Given the description of an element on the screen output the (x, y) to click on. 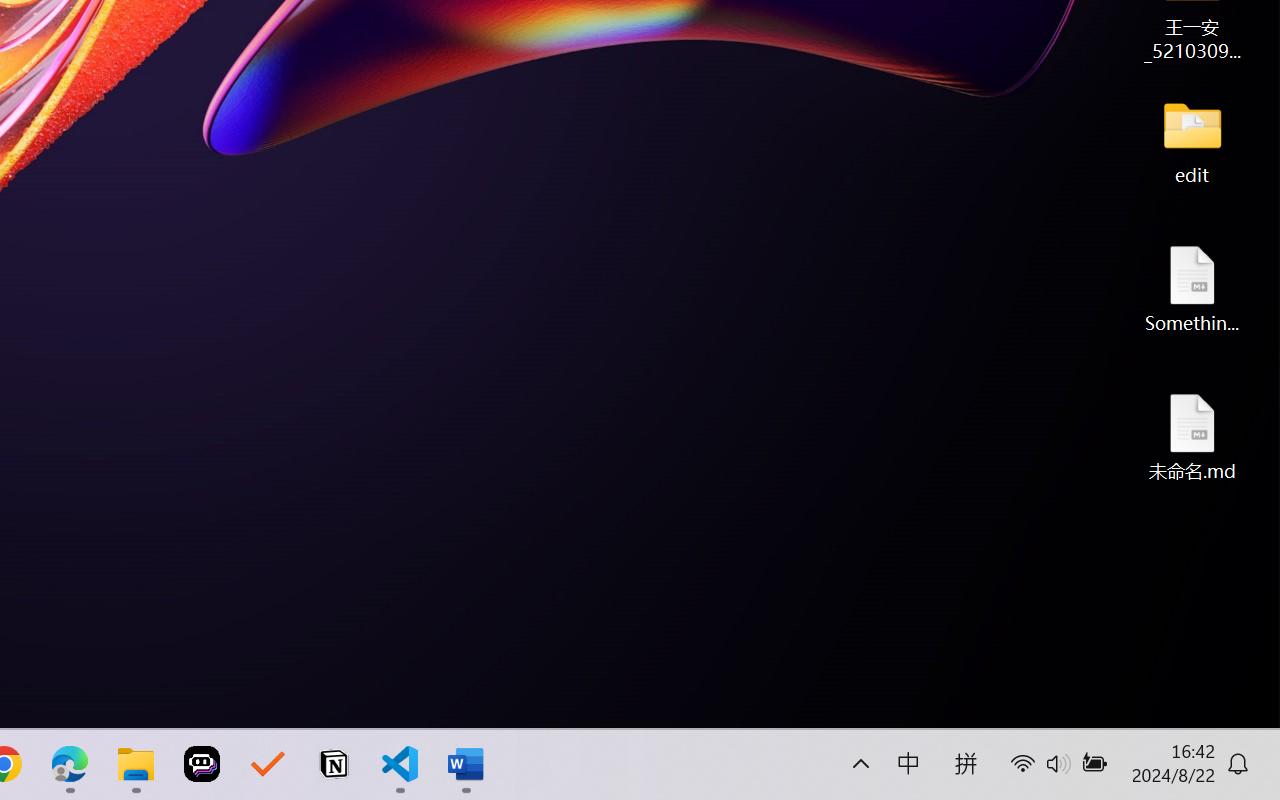
Something.md (1192, 288)
